Given the description of an element on the screen output the (x, y) to click on. 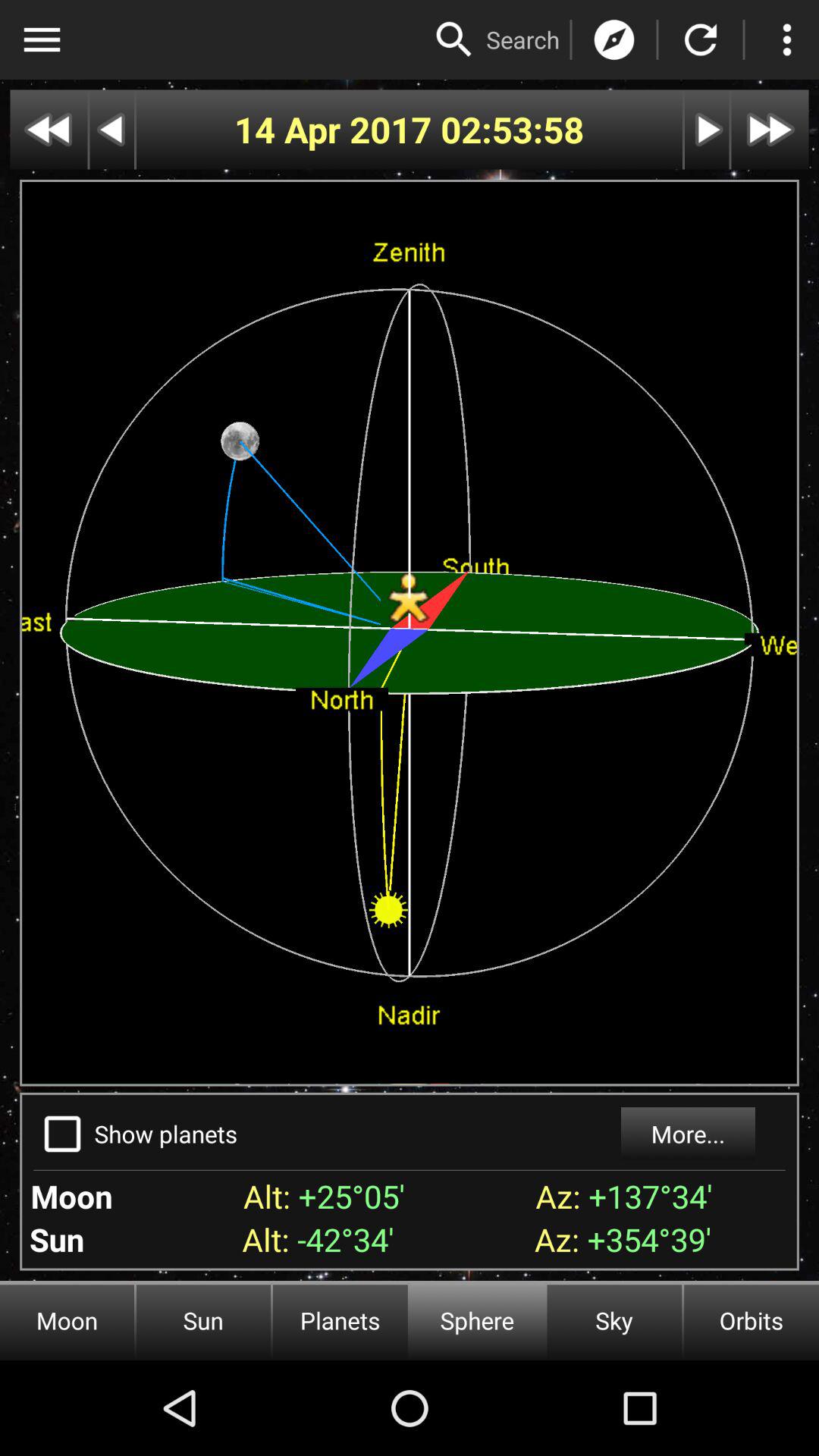
fast forward (769, 129)
